Given the description of an element on the screen output the (x, y) to click on. 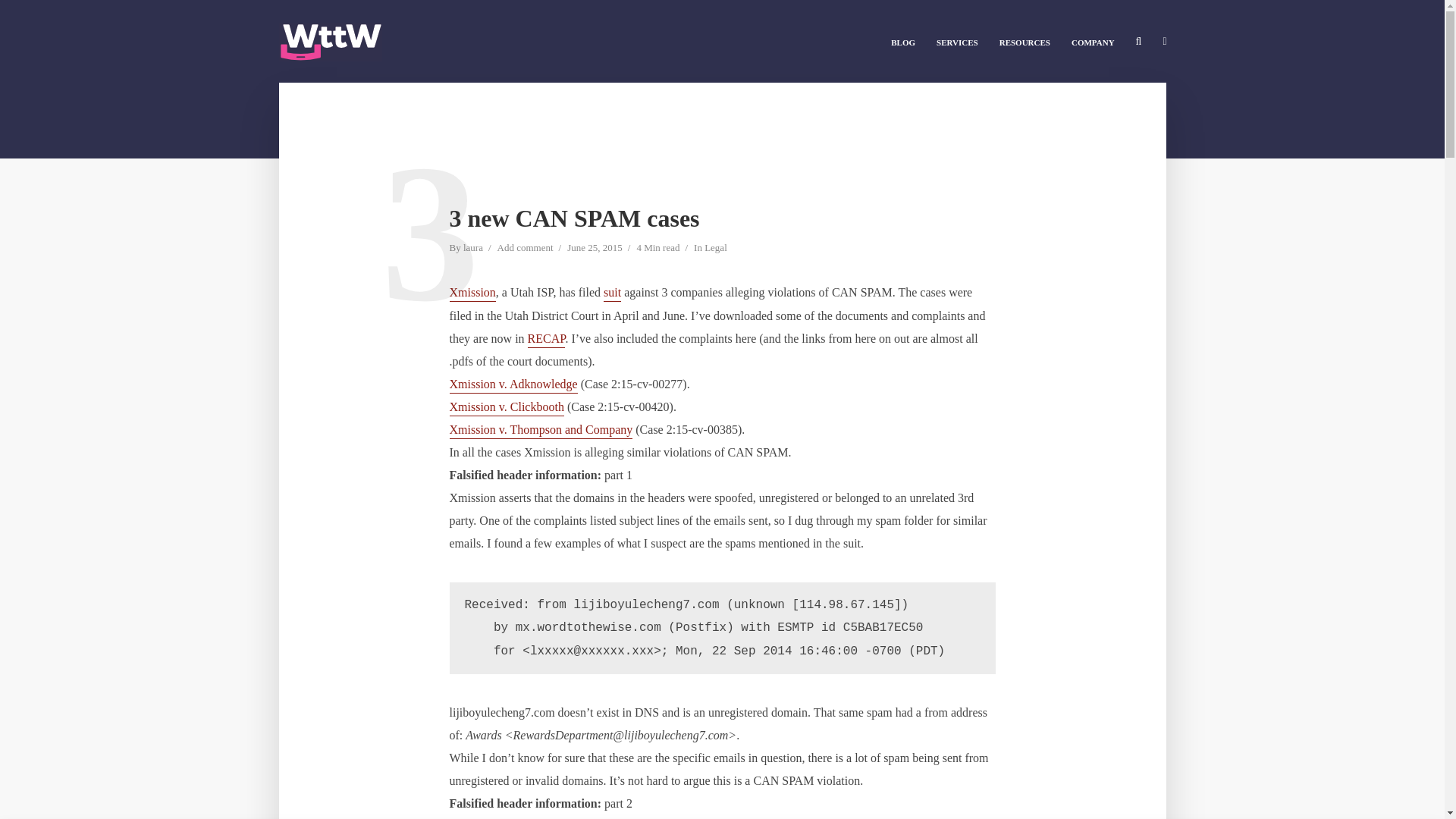
COMPANY (1093, 41)
RESOURCES (1024, 41)
Xmission v. Adknowledge (512, 385)
suit (612, 293)
Xmission v. Thompson and Company (539, 430)
Add comment (525, 248)
Xmission (471, 293)
Xmission v. Clickbooth (505, 408)
BLOG (903, 41)
RECAP (546, 340)
SERVICES (957, 41)
laura (473, 248)
Legal (715, 248)
